Given the description of an element on the screen output the (x, y) to click on. 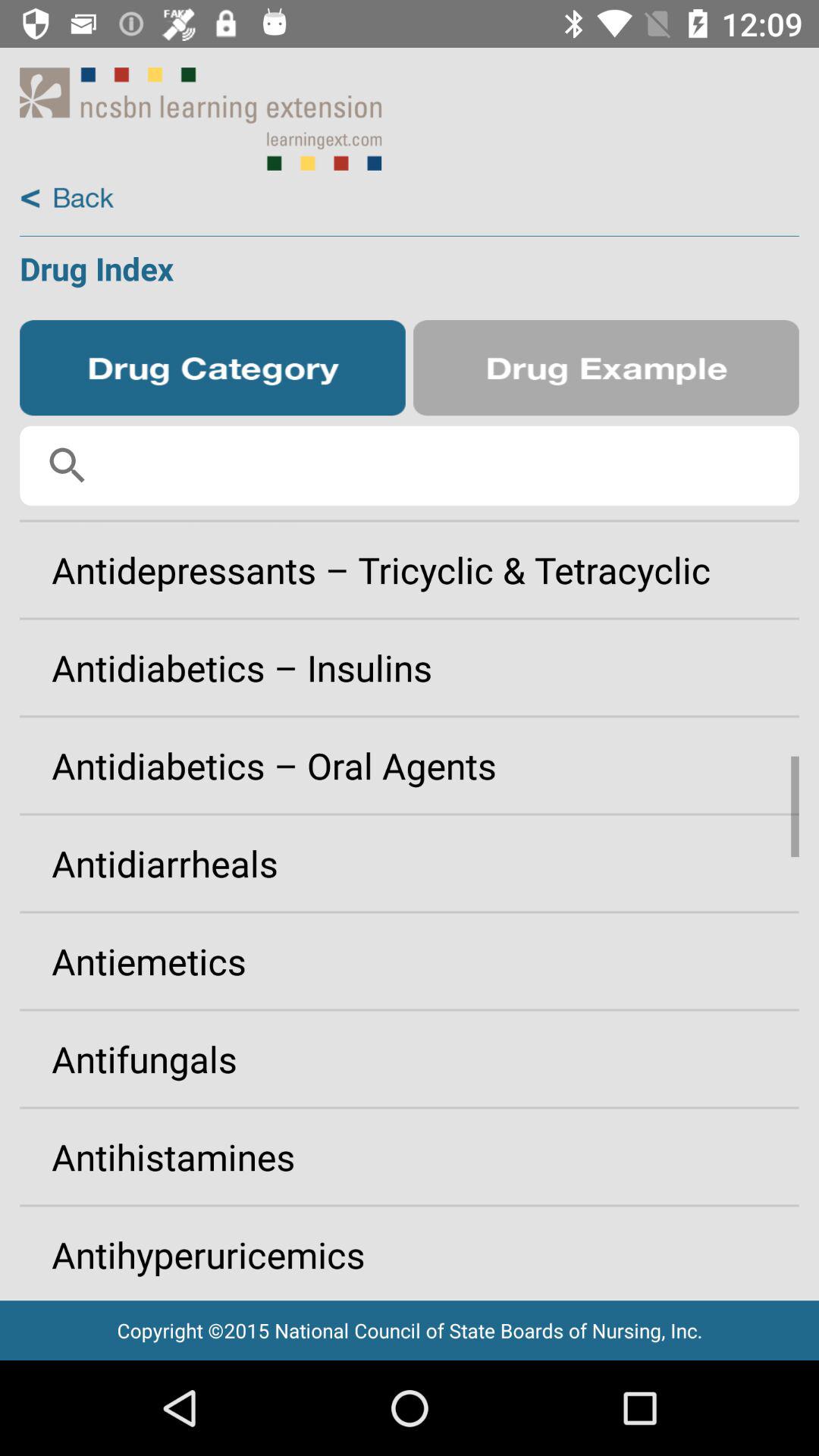
open icon above the antiemetics icon (409, 863)
